Given the description of an element on the screen output the (x, y) to click on. 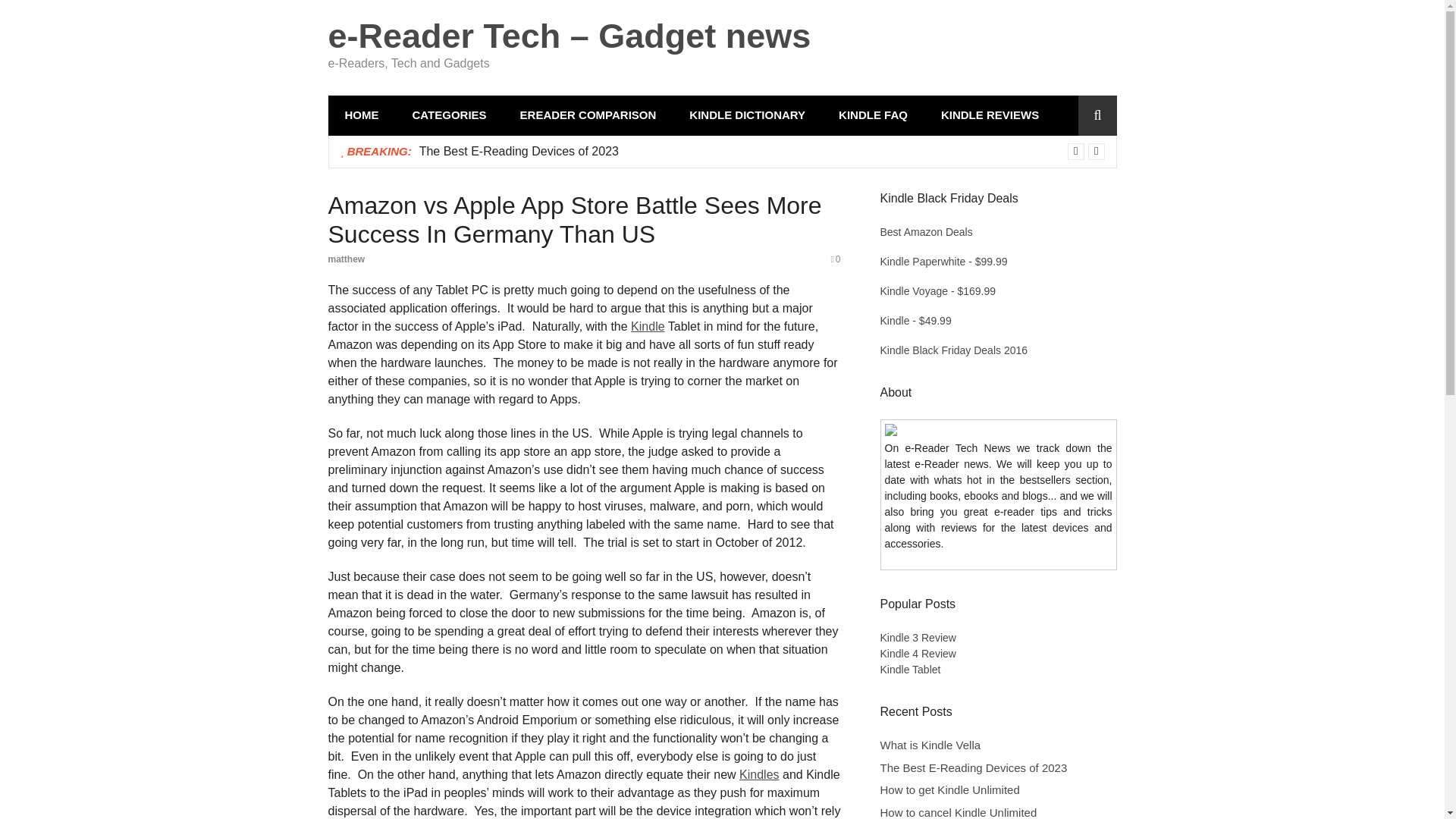
KINDLE REVIEWS (989, 115)
The Best E-Reading Devices of 2023 (518, 150)
Kindles (758, 774)
KINDLE DICTIONARY (747, 115)
Kindle 3 Review (917, 637)
Kindle Tablet (909, 669)
matthew (346, 258)
Kindle (646, 326)
HOME (360, 115)
